Given the description of an element on the screen output the (x, y) to click on. 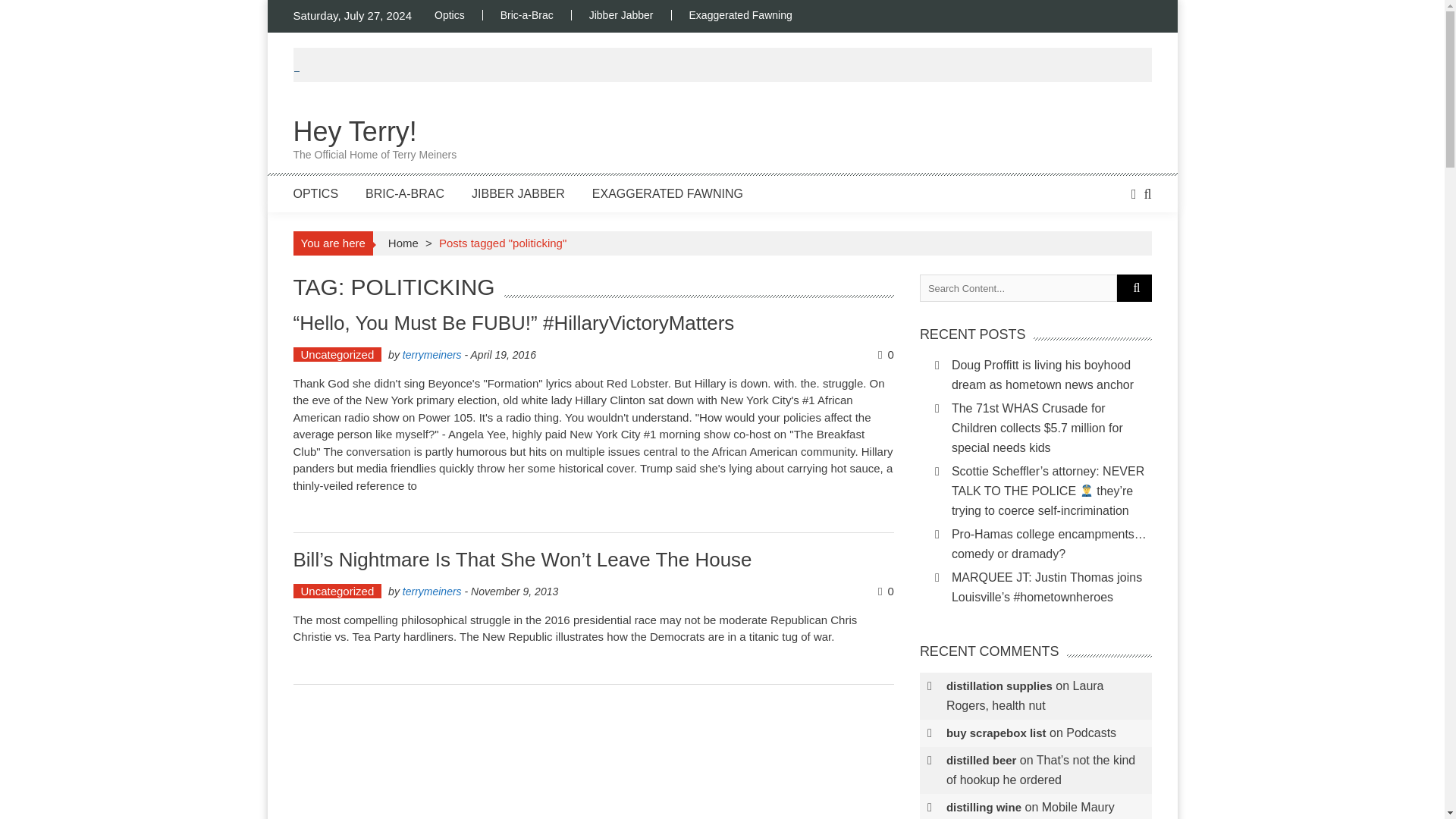
Skip to content (304, 8)
Uncategorized (336, 590)
Optics (457, 14)
EXAGGERATED FAWNING (667, 192)
OPTICS (314, 192)
Bric-a-Brac (525, 14)
Uncategorized (336, 354)
JIBBER JABBER (374, 140)
Jibber Jabber (517, 192)
terrymeiners (620, 14)
Exaggerated Fawning (432, 354)
Home (740, 14)
terrymeiners (403, 242)
BRIC-A-BRAC (432, 591)
